Given the description of an element on the screen output the (x, y) to click on. 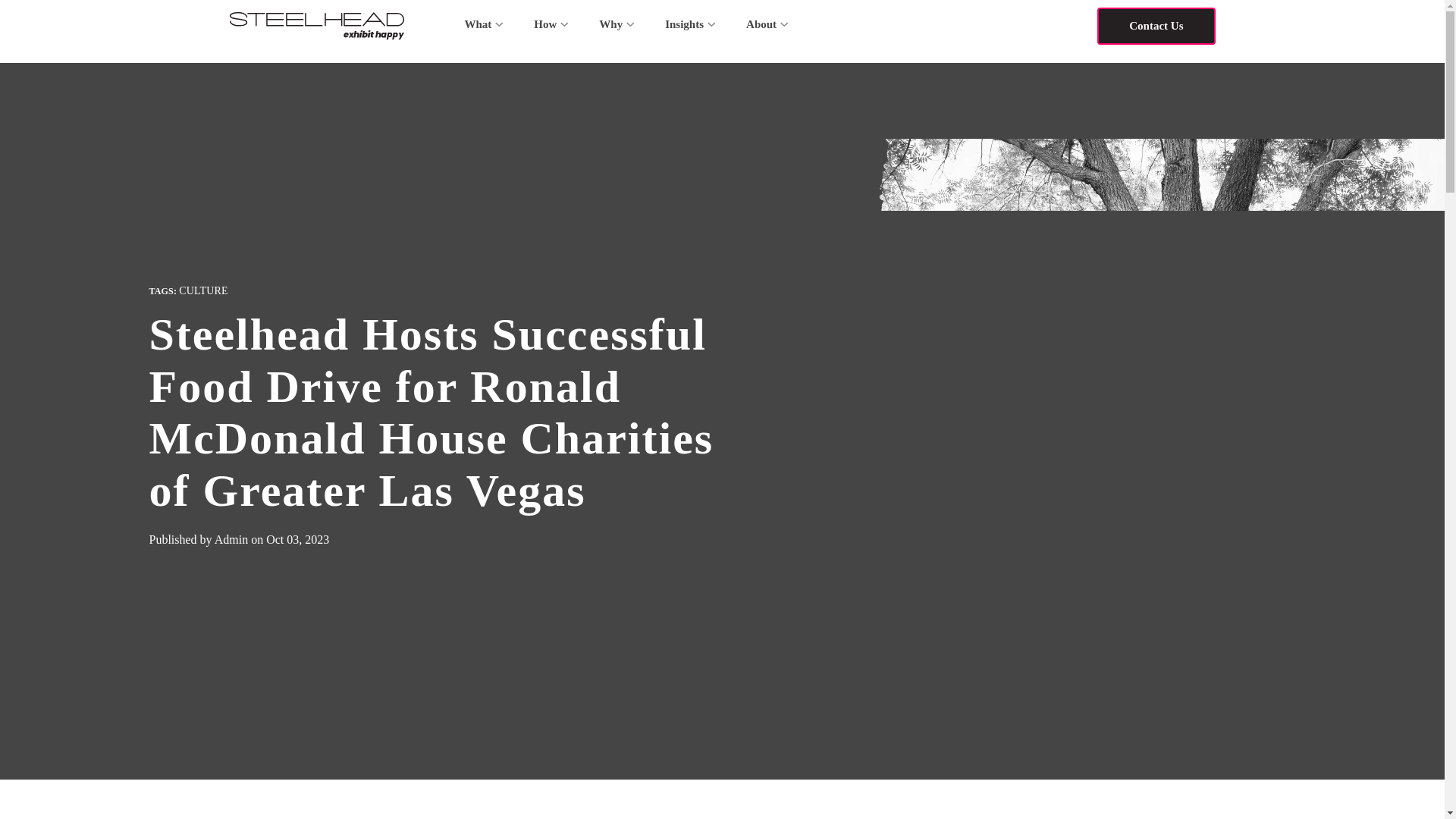
CULTURE (203, 290)
Admin (232, 539)
Why (616, 24)
HYAS (315, 26)
What (483, 24)
Contact Us (1155, 26)
About (766, 24)
How (550, 24)
Insights (689, 24)
